Given the description of an element on the screen output the (x, y) to click on. 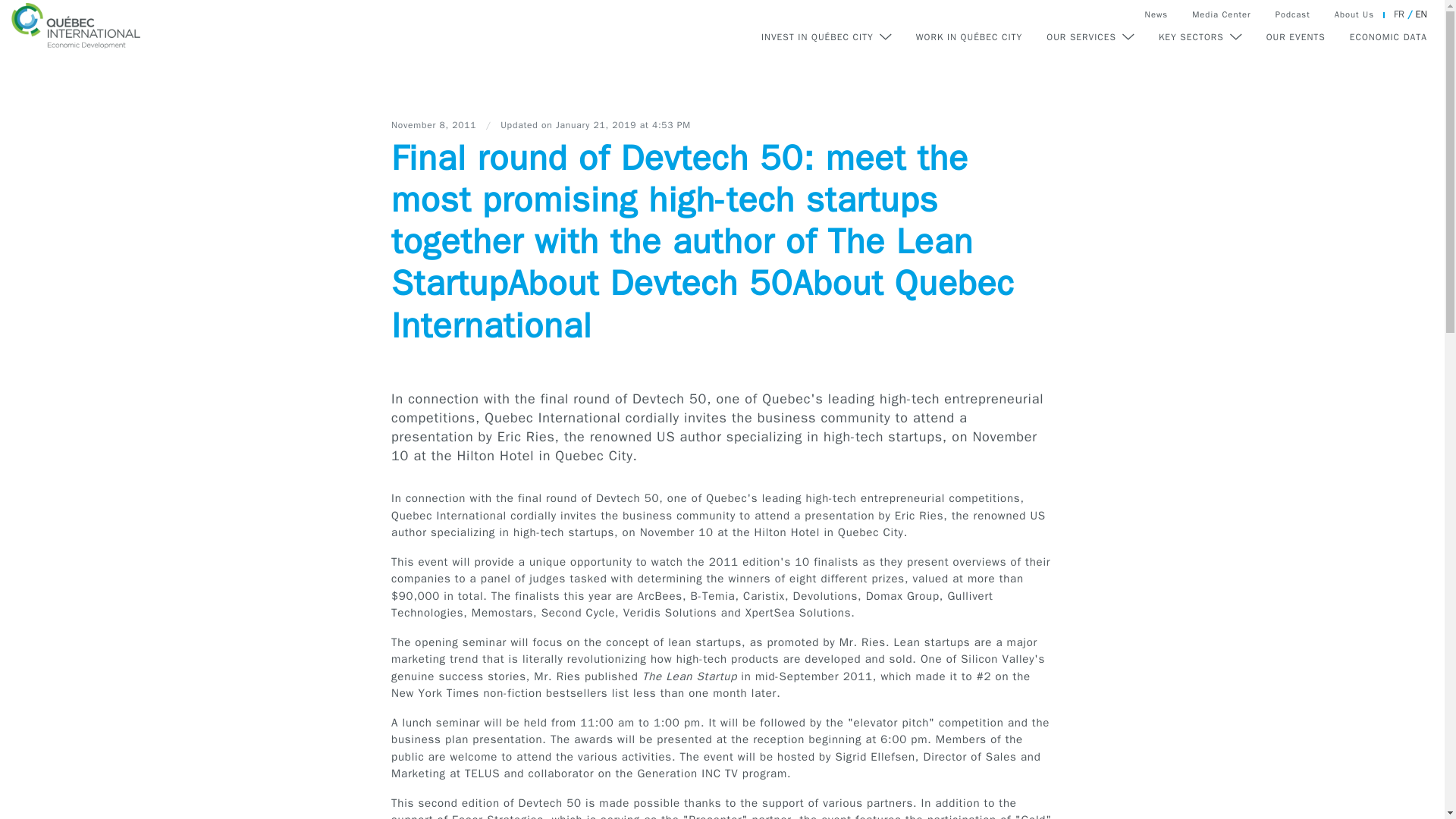
Podcast (1292, 14)
2011-11-08T05:00:00.000000Z (435, 124)
OUR SERVICES (1090, 37)
Media Center (1221, 14)
News (1156, 14)
KEY SECTORS (1200, 37)
2019-01-21T11:53:14.400834-05:00 (623, 124)
ECONOMIC DATA (1387, 37)
About Us (1353, 14)
OUR EVENTS (1296, 37)
